Given the description of an element on the screen output the (x, y) to click on. 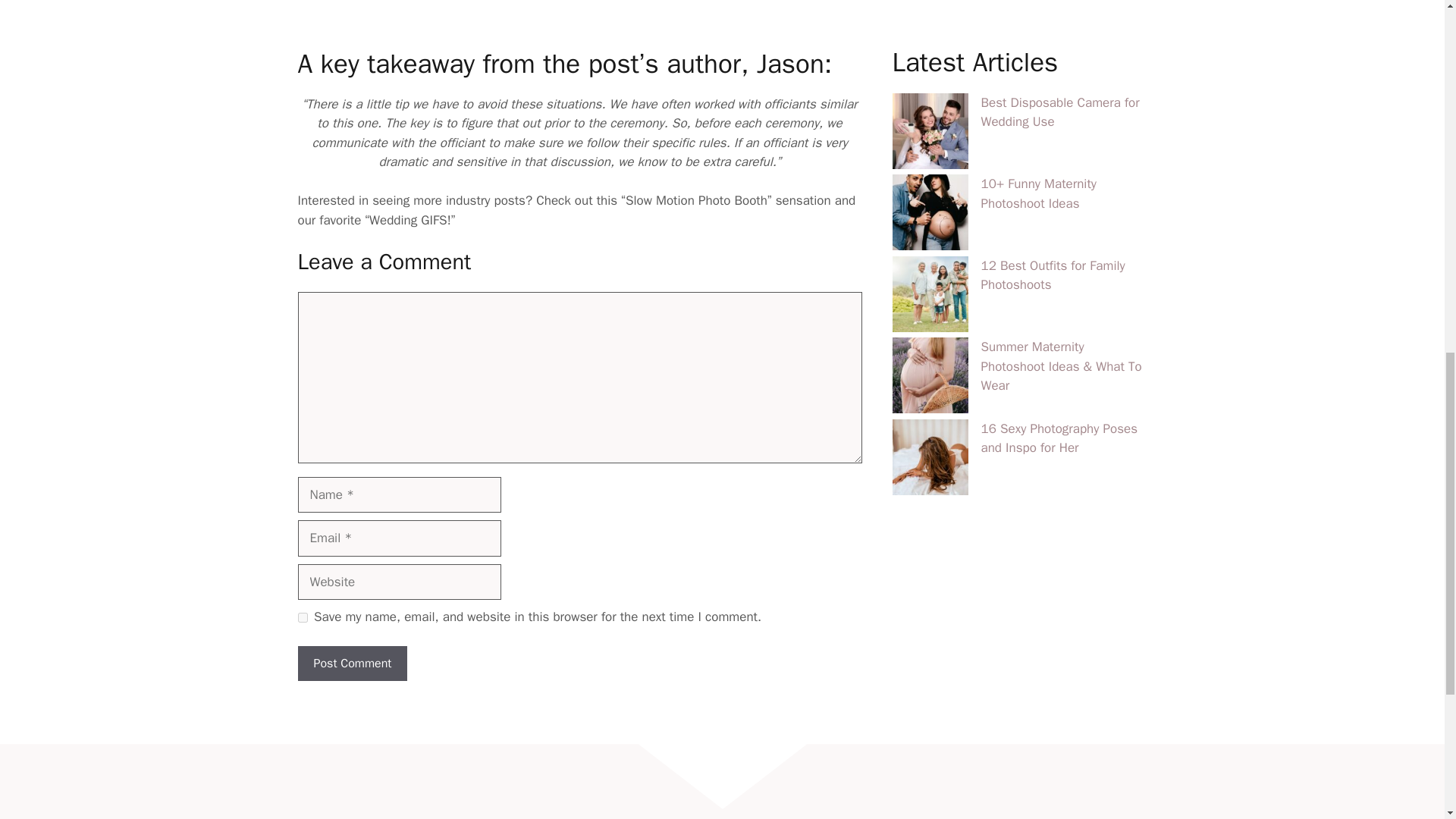
Post Comment (352, 663)
yes (302, 617)
16 Sexy Photography Poses and Inspo for Her (1059, 32)
Scroll back to top (1406, 720)
Post Comment (352, 663)
